Given the description of an element on the screen output the (x, y) to click on. 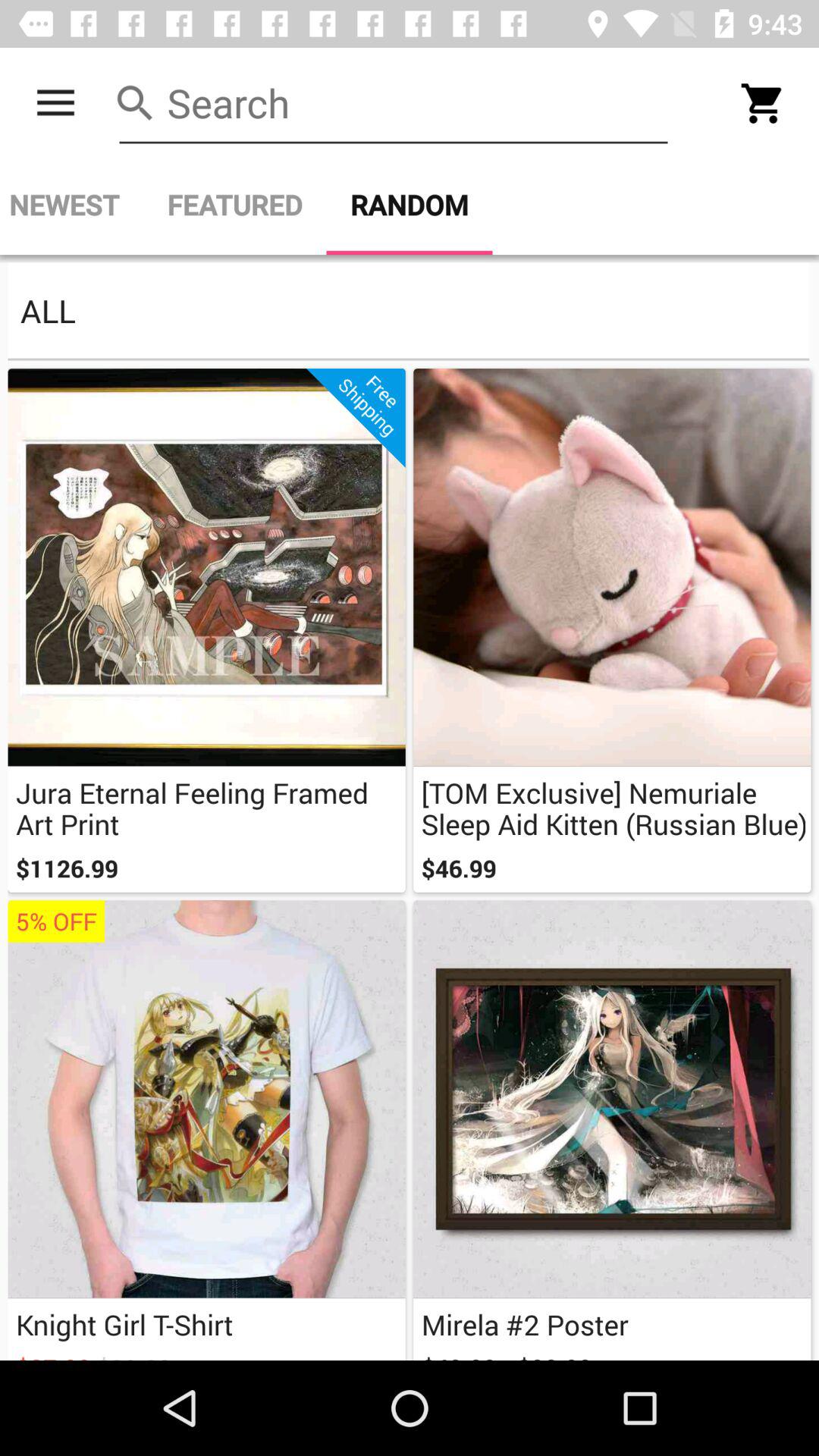
select the icon to the right of featured icon (409, 204)
